Given the description of an element on the screen output the (x, y) to click on. 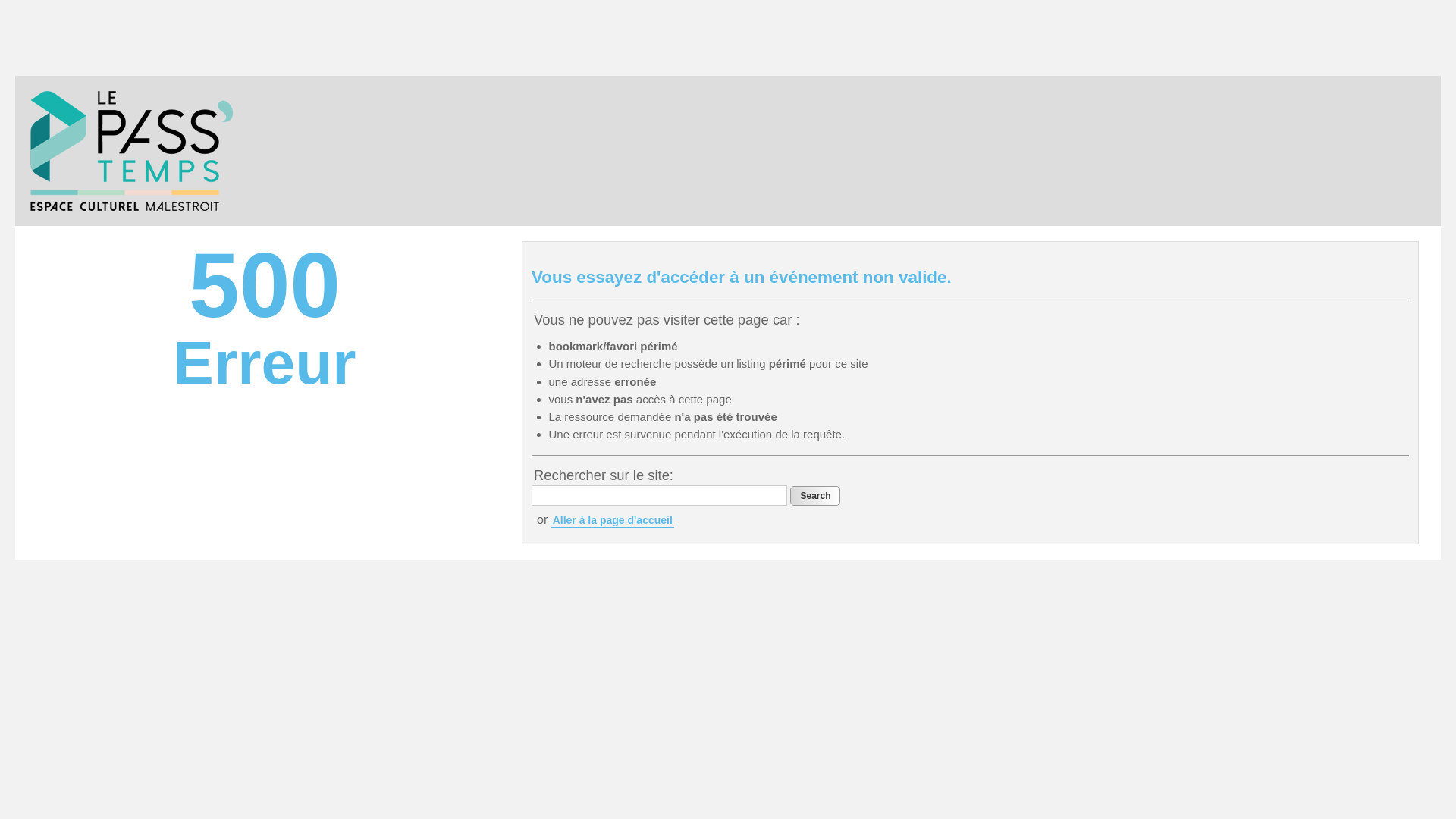
Search Element type: text (815, 495)
